Given the description of an element on the screen output the (x, y) to click on. 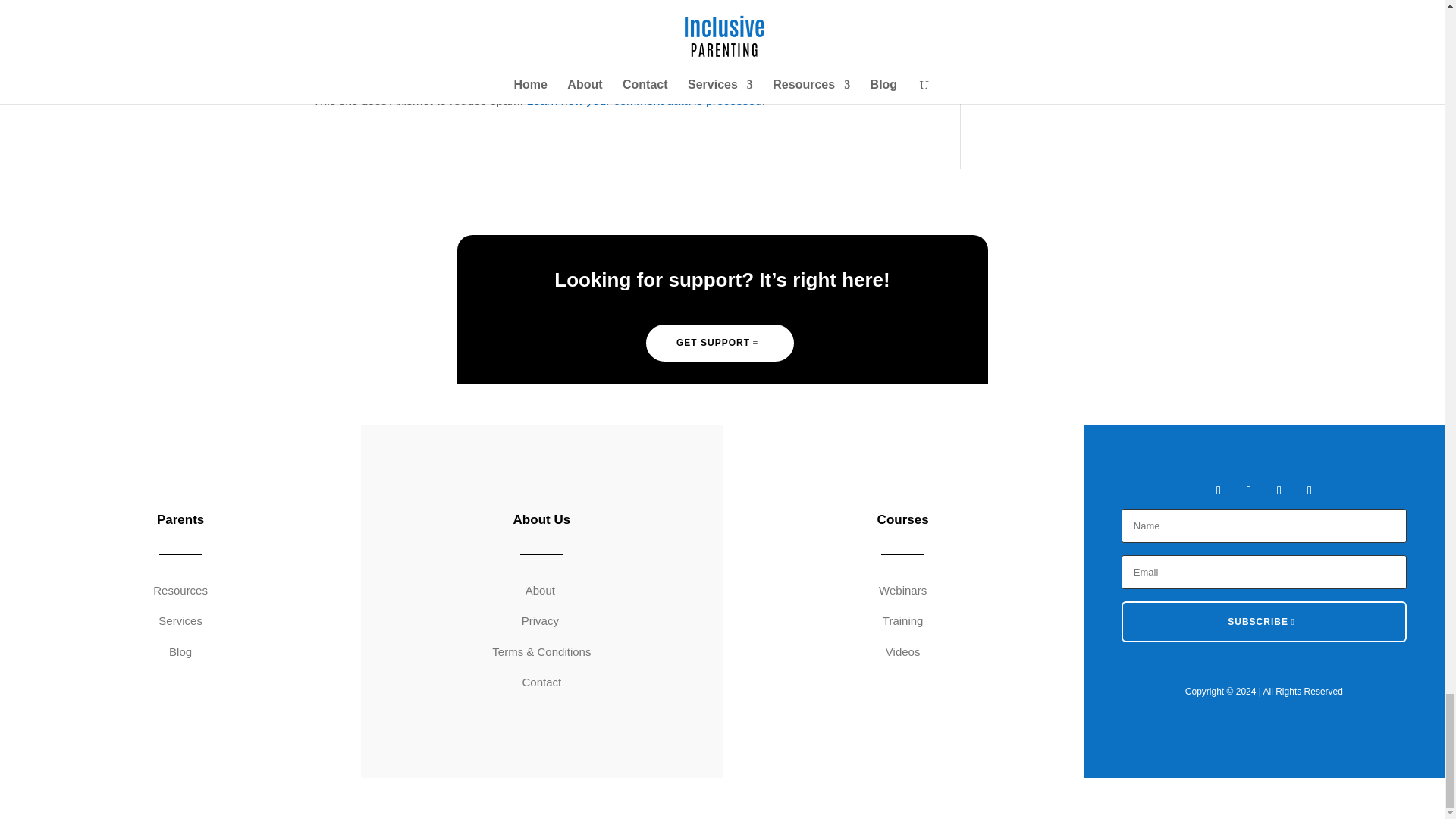
Follow on Twitter (1248, 490)
Follow on Instagram (1278, 490)
Follow on Facebook (1218, 490)
Submit Comment (840, 20)
Follow on Pinterest (1309, 490)
